Given the description of an element on the screen output the (x, y) to click on. 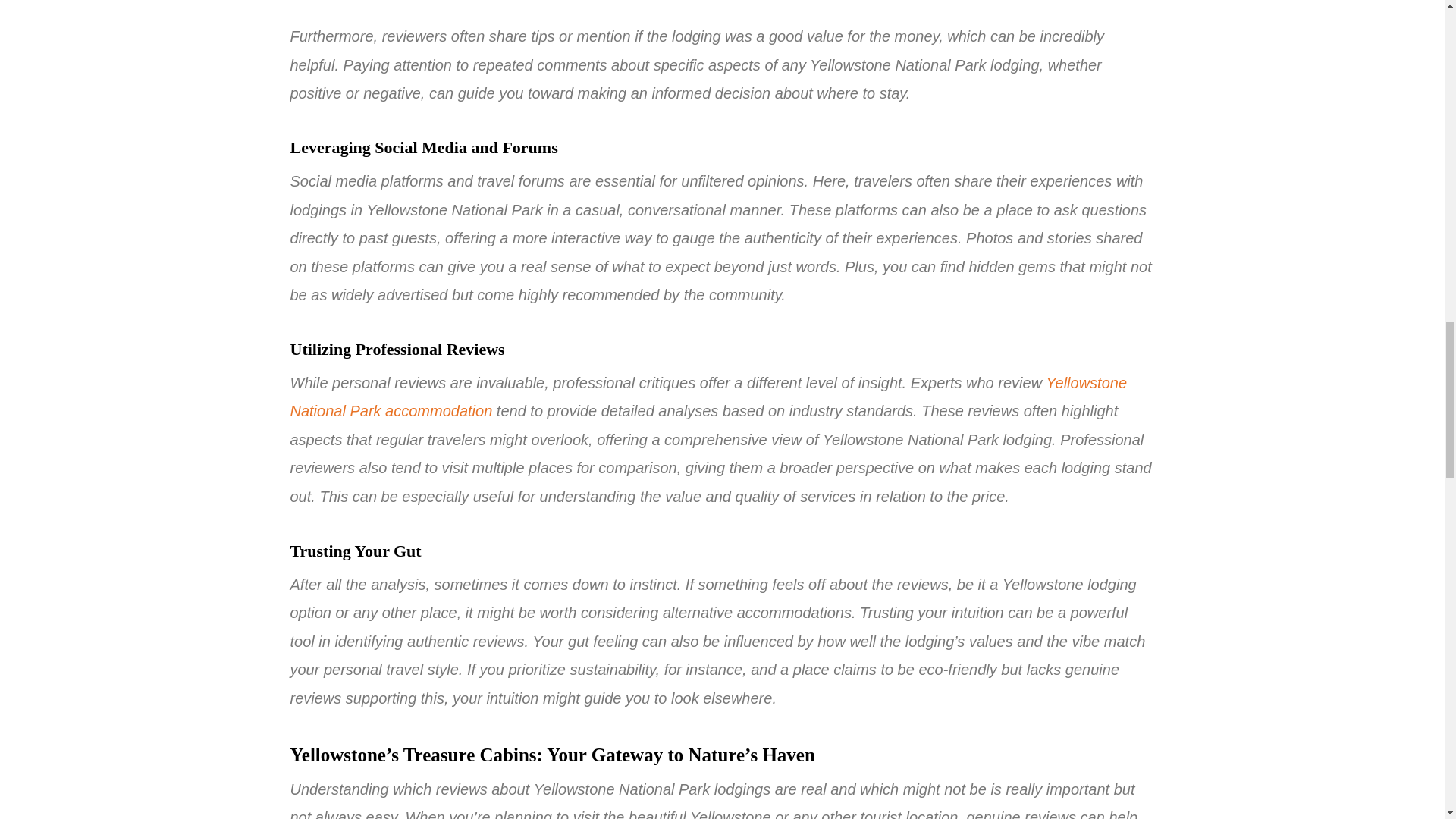
Yellowstone National Park accommodation (707, 397)
